Given the description of an element on the screen output the (x, y) to click on. 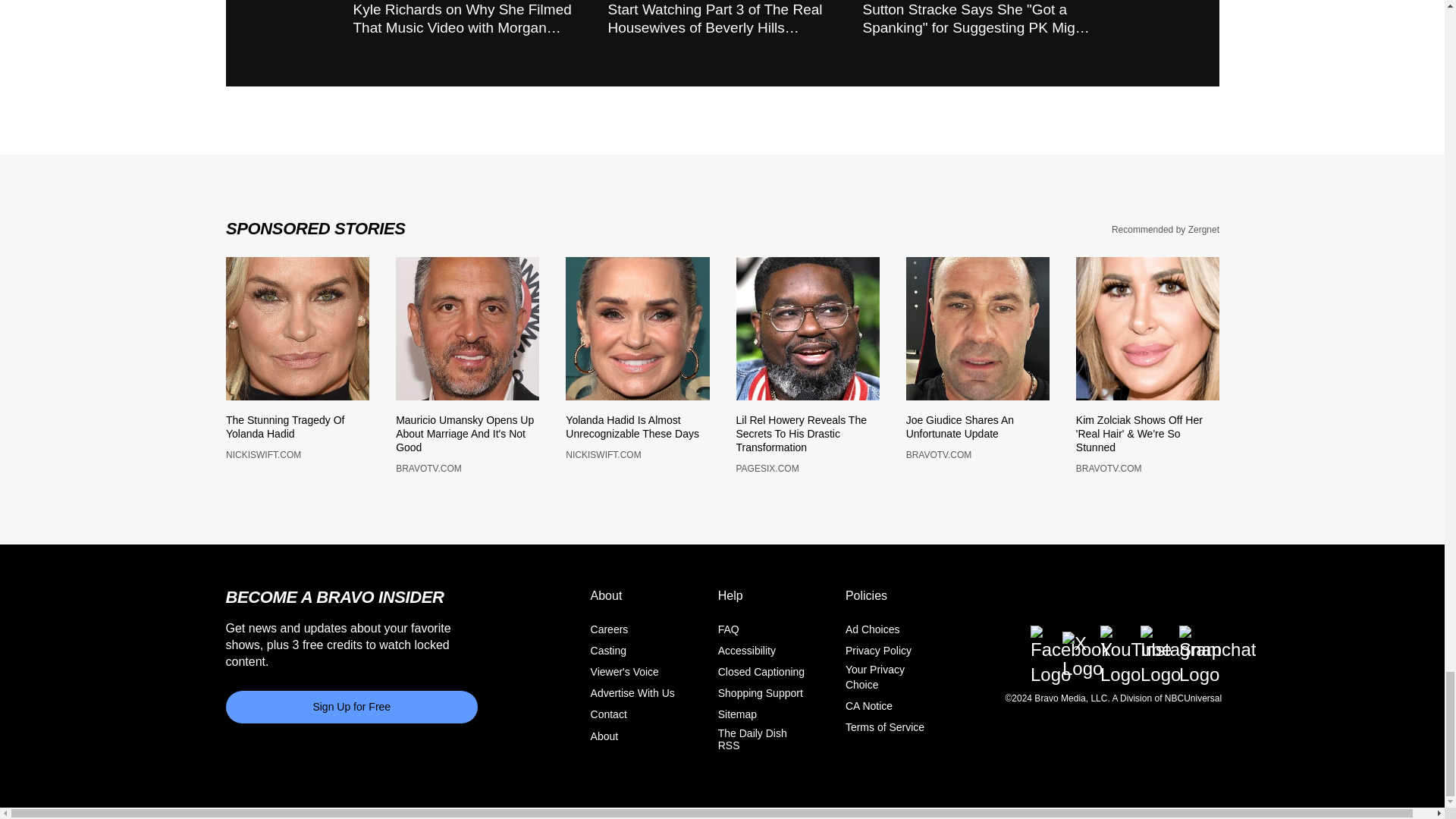
Advertise With Us (633, 702)
